Given the description of an element on the screen output the (x, y) to click on. 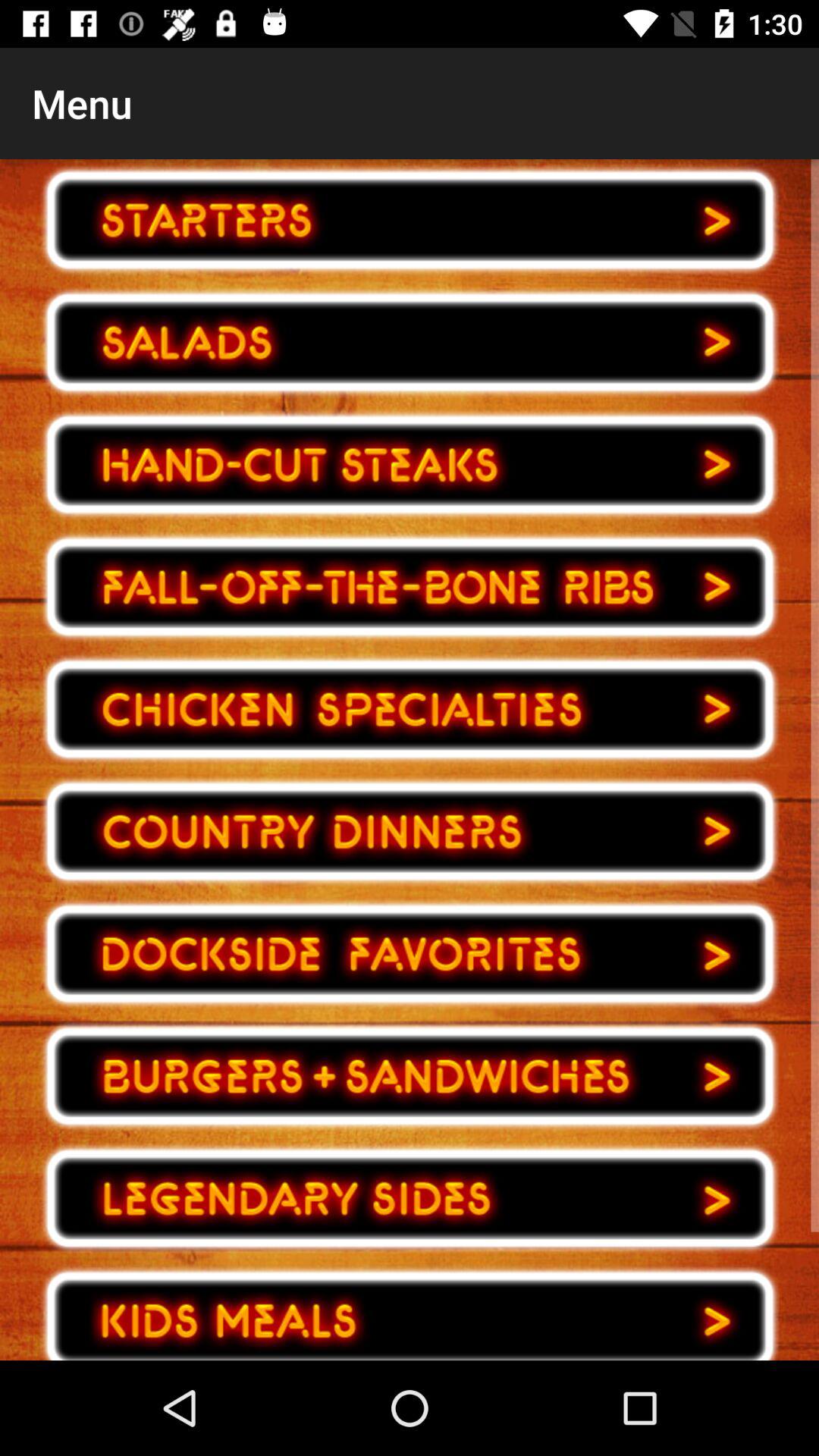
view the kids meals menu (409, 1309)
